Given the description of an element on the screen output the (x, y) to click on. 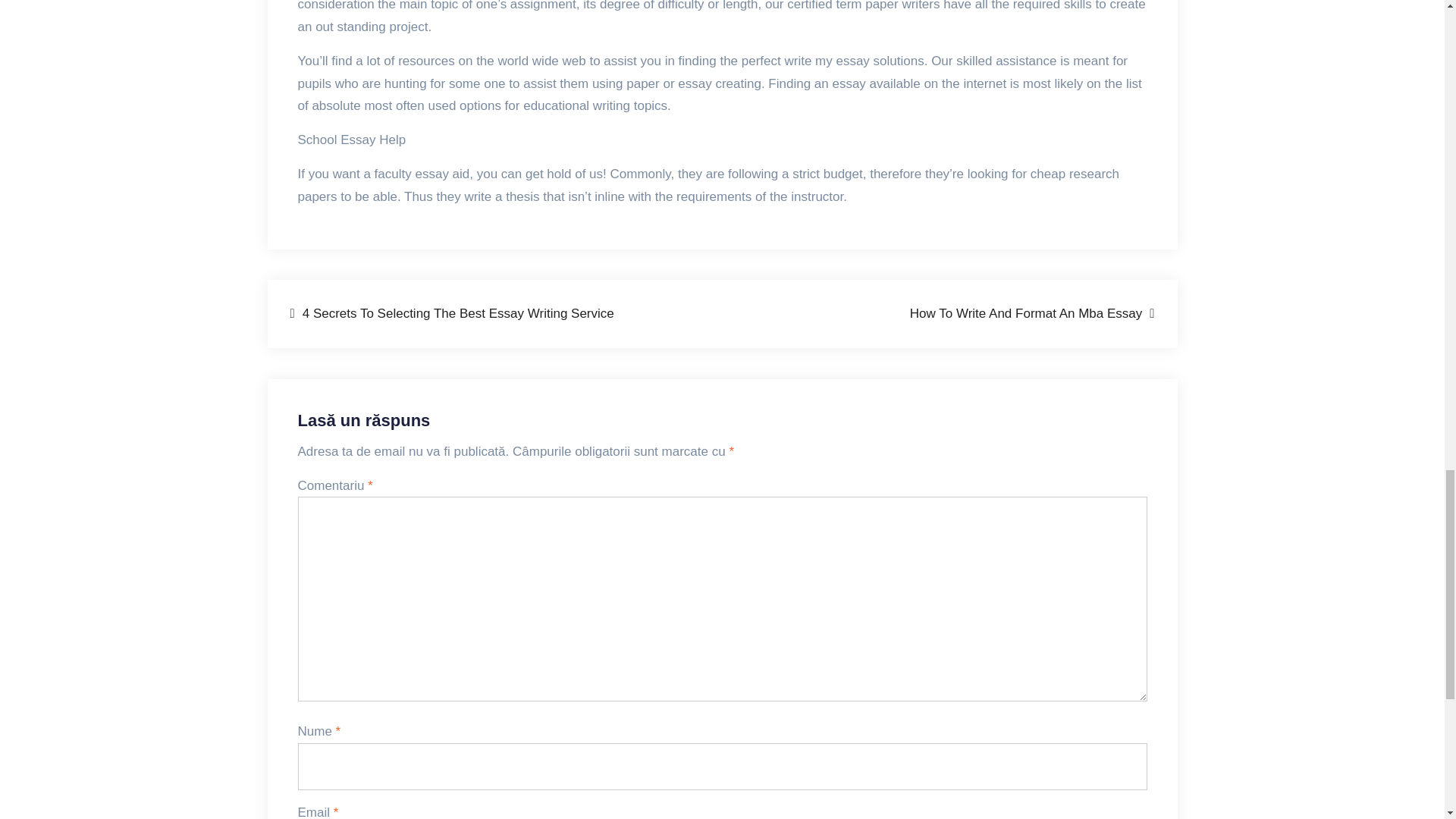
4 Secrets To Selecting The Best Essay Writing Service (450, 313)
How To Write And Format An Mba Essay (1032, 313)
